Given the description of an element on the screen output the (x, y) to click on. 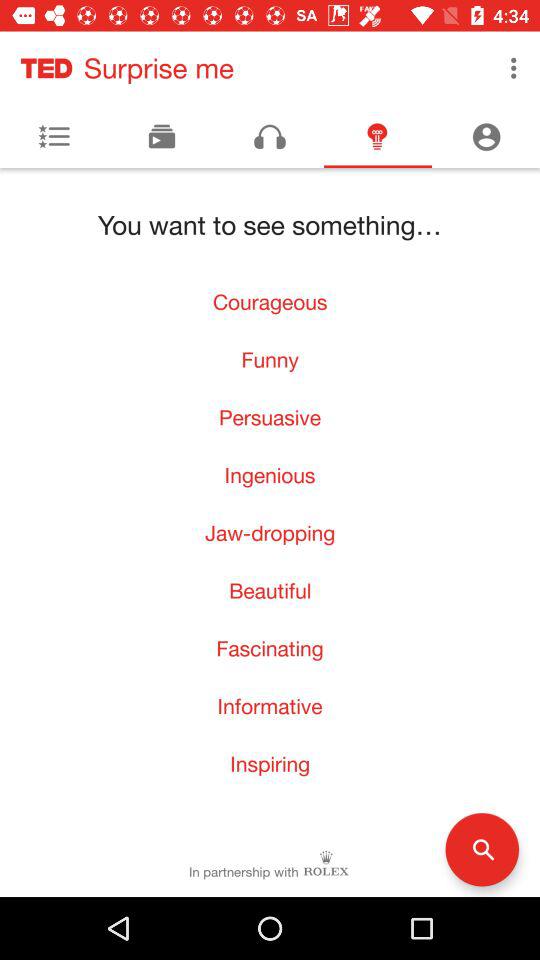
flip to fascinating icon (270, 648)
